Given the description of an element on the screen output the (x, y) to click on. 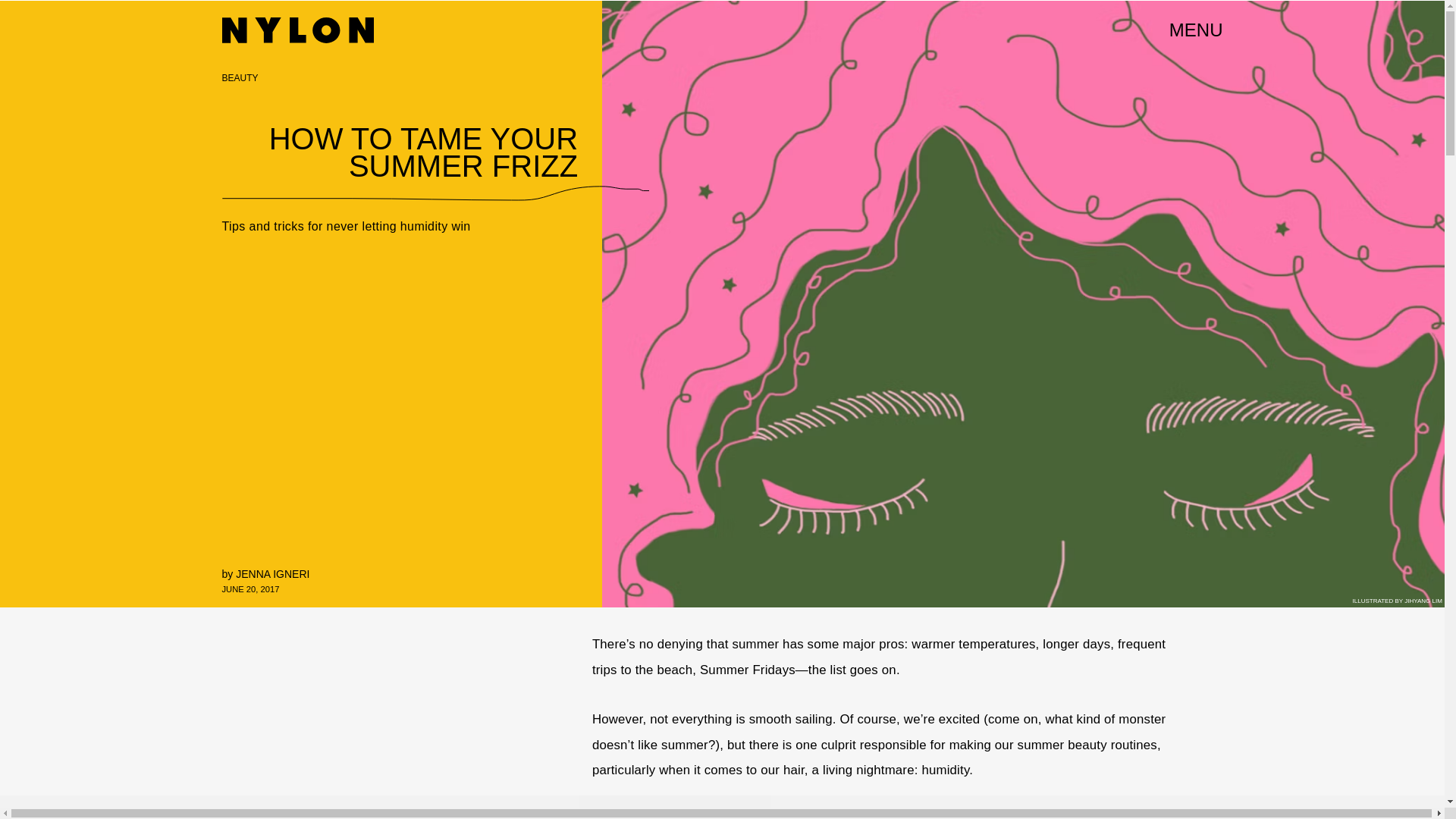
Nylon (296, 30)
JENNA IGNERI (271, 573)
